Given the description of an element on the screen output the (x, y) to click on. 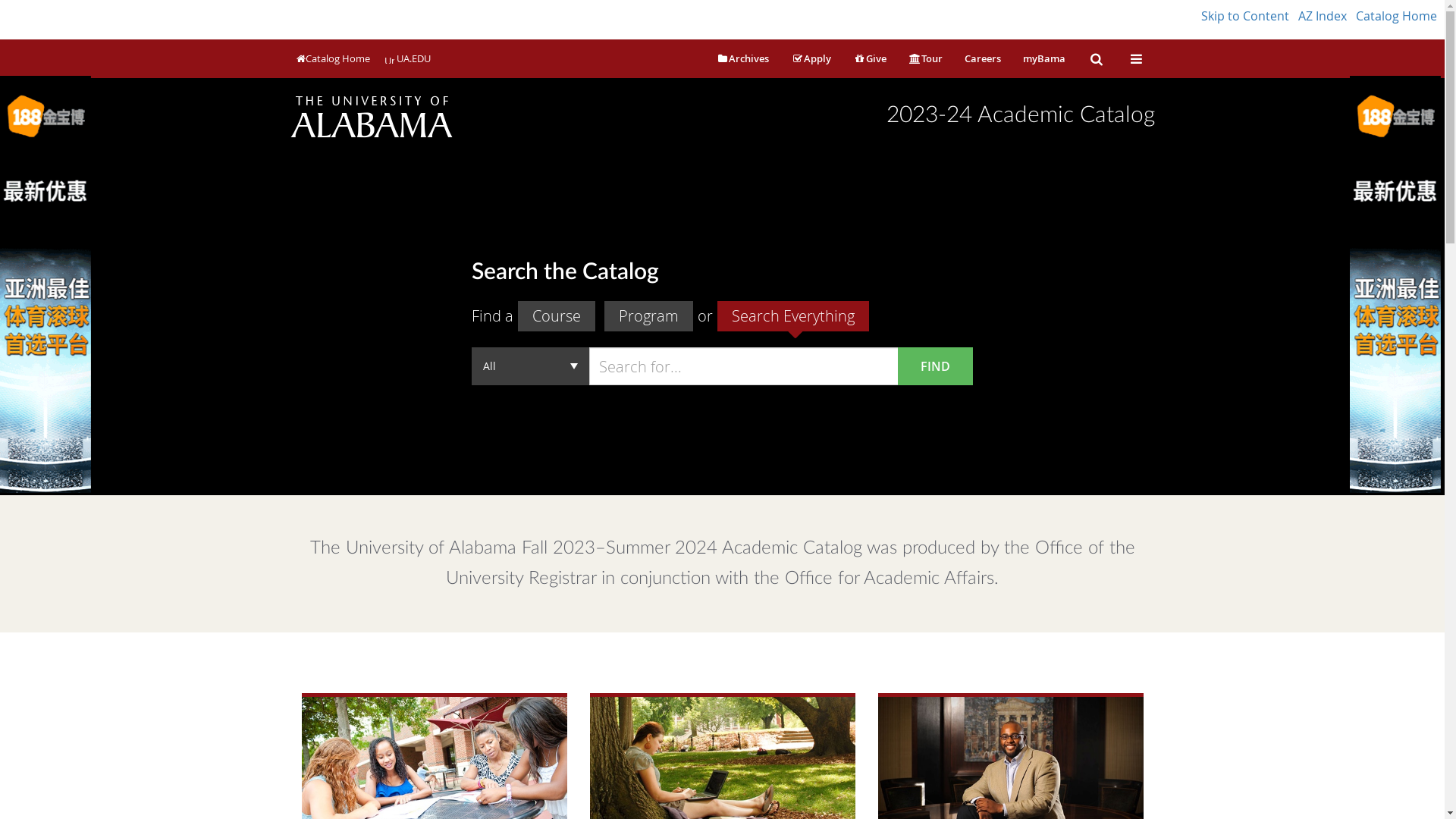
Careers Element type: text (981, 58)
Tools Element type: text (1135, 59)
Tour Element type: text (925, 58)
2023-24 Academic Catalog Element type: text (1019, 114)
FIND Element type: text (934, 366)
myBama Element type: text (1044, 58)
Apply Element type: text (810, 58)
Archives Element type: text (742, 58)
Catalog Home Element type: text (332, 58)
Give Element type: text (869, 58)
Skip to Content Element type: text (1245, 15)
Search Element type: text (1095, 59)
AZ Index Element type: text (1322, 15)
Catalog Home Element type: text (1396, 15)
UA.EDU Element type: text (407, 58)
The University of Alabama Element type: text (370, 112)
